Given the description of an element on the screen output the (x, y) to click on. 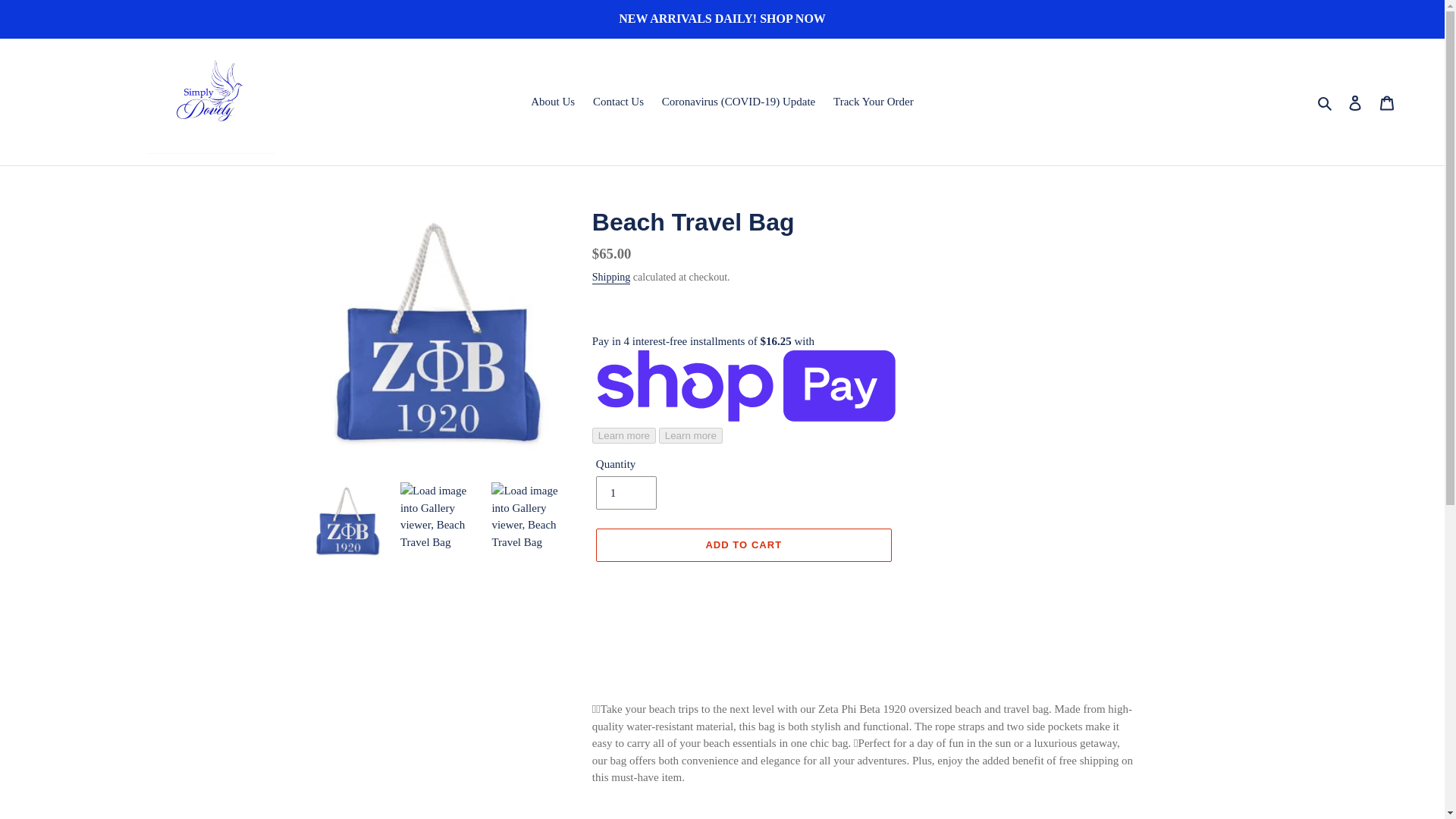
Contact Us (617, 101)
Shipping (611, 277)
ADD TO CART (743, 544)
Log in (1355, 101)
1 (625, 492)
About Us (552, 101)
NEW ARRIVALS DAILY! SHOP NOW (721, 18)
Search (1326, 101)
Cart (1387, 101)
Track Your Order (873, 101)
